Given the description of an element on the screen output the (x, y) to click on. 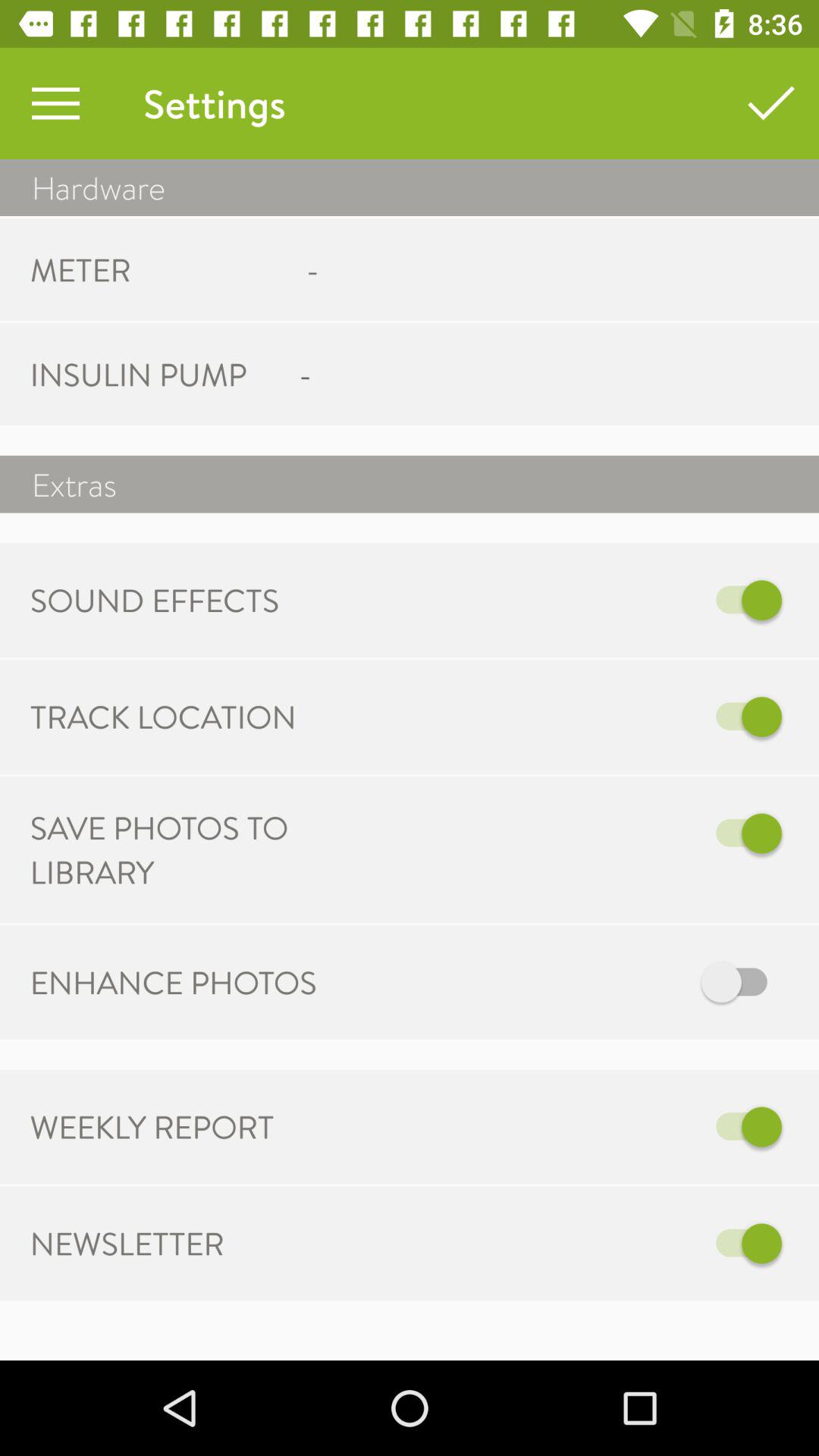
open the item to the right of newsletter (566, 1243)
